Given the description of an element on the screen output the (x, y) to click on. 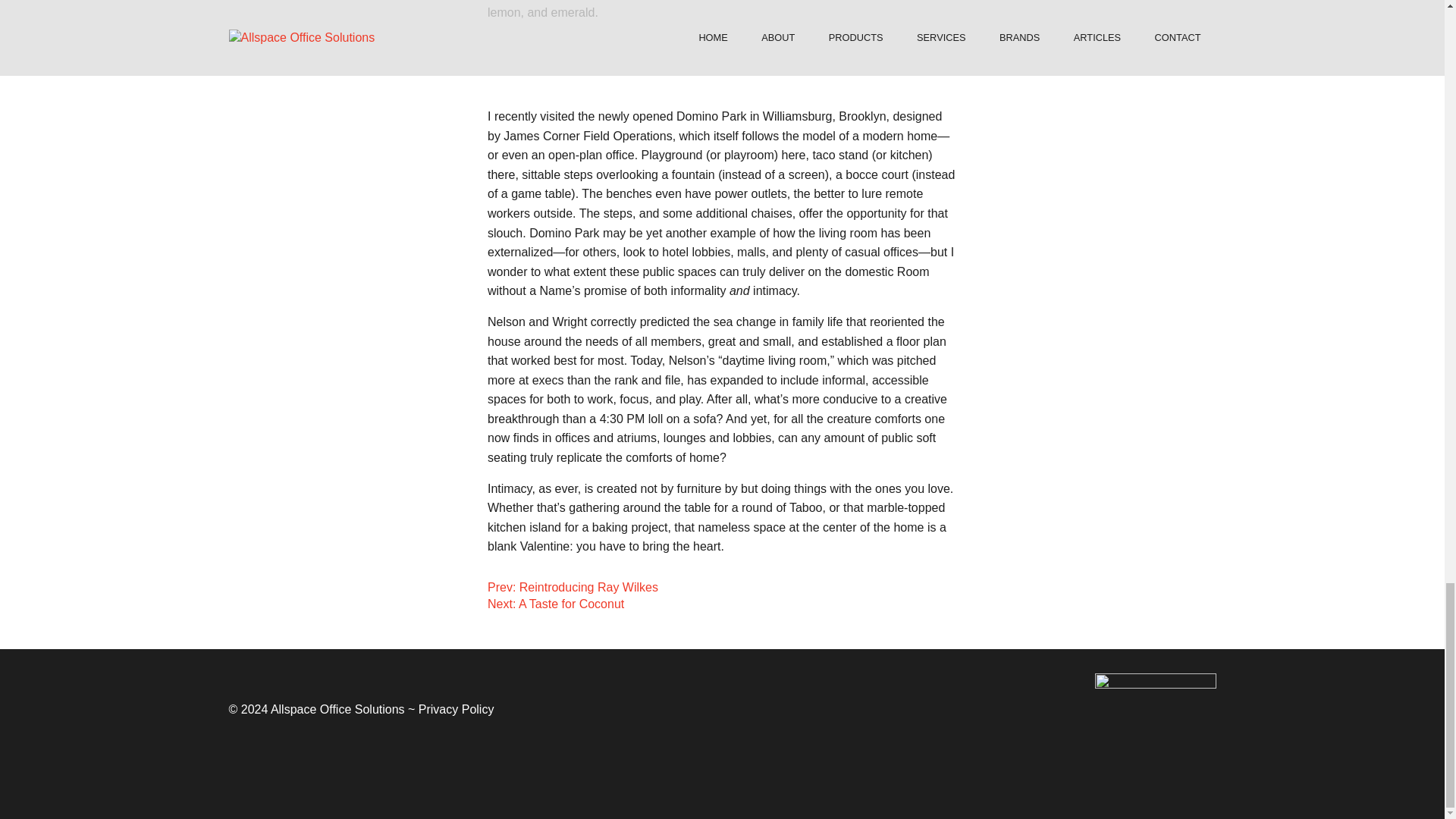
Prev: Reintroducing Ray Wilkes (572, 586)
Privacy Policy (457, 708)
Allspace Office Solutions (337, 708)
Next: A Taste for Coconut (555, 603)
